Given the description of an element on the screen output the (x, y) to click on. 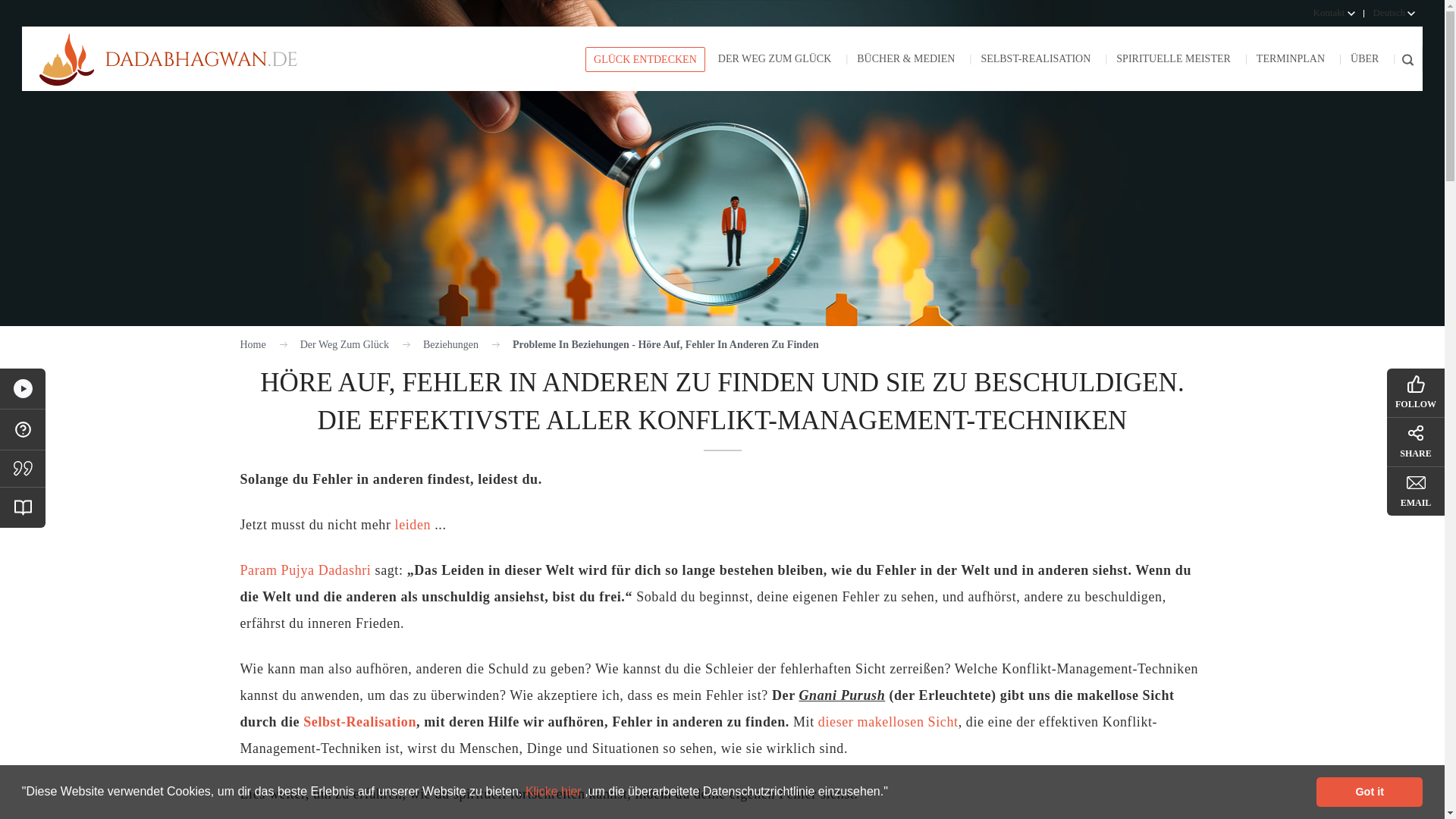
Got it (1369, 791)
Klicke hier (555, 790)
